Given the description of an element on the screen output the (x, y) to click on. 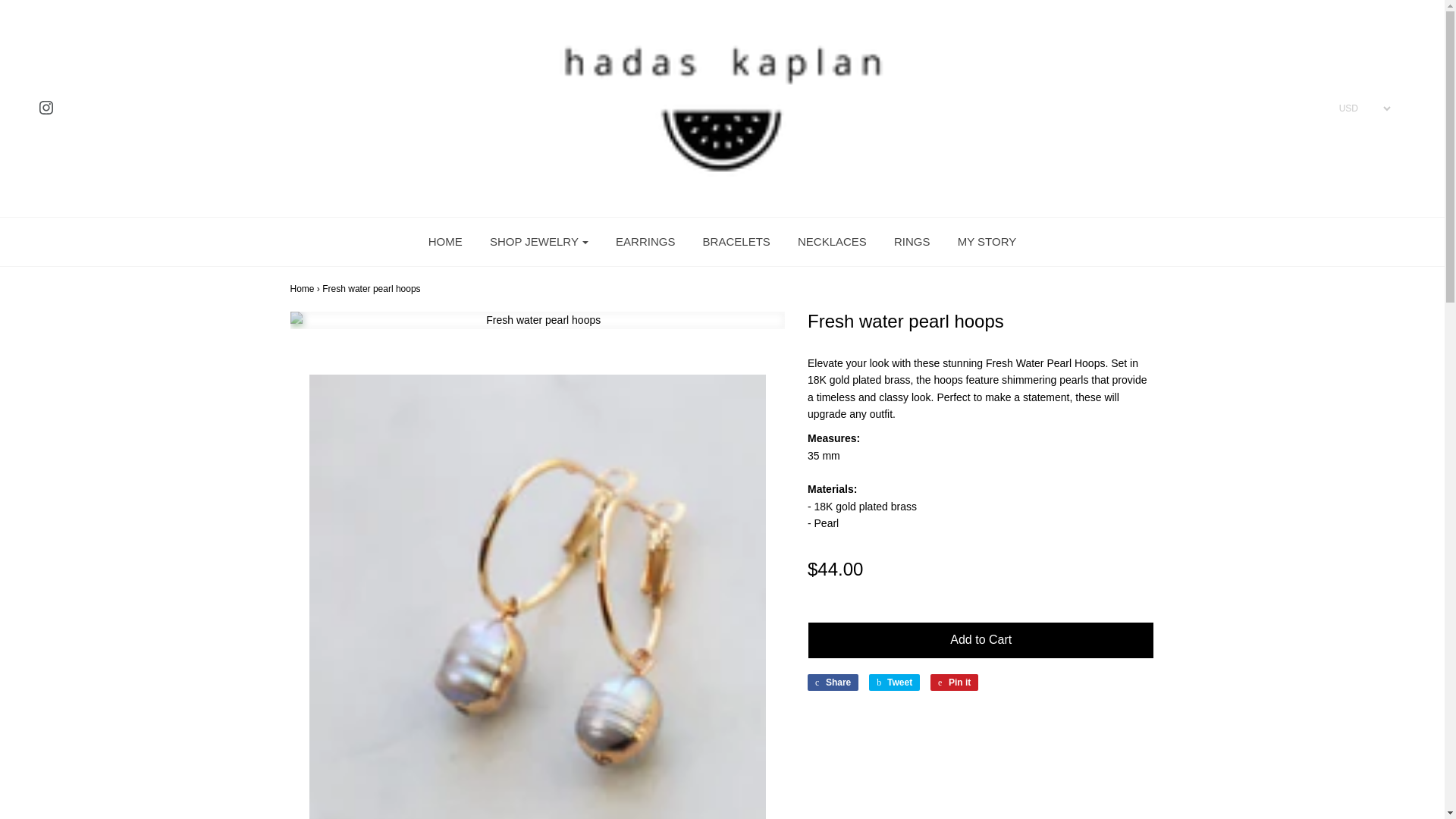
HOME (445, 241)
Instagram icon (46, 107)
Instagram icon (46, 108)
SHOP JEWELRY (539, 241)
Back to the frontpage (301, 288)
